Given the description of an element on the screen output the (x, y) to click on. 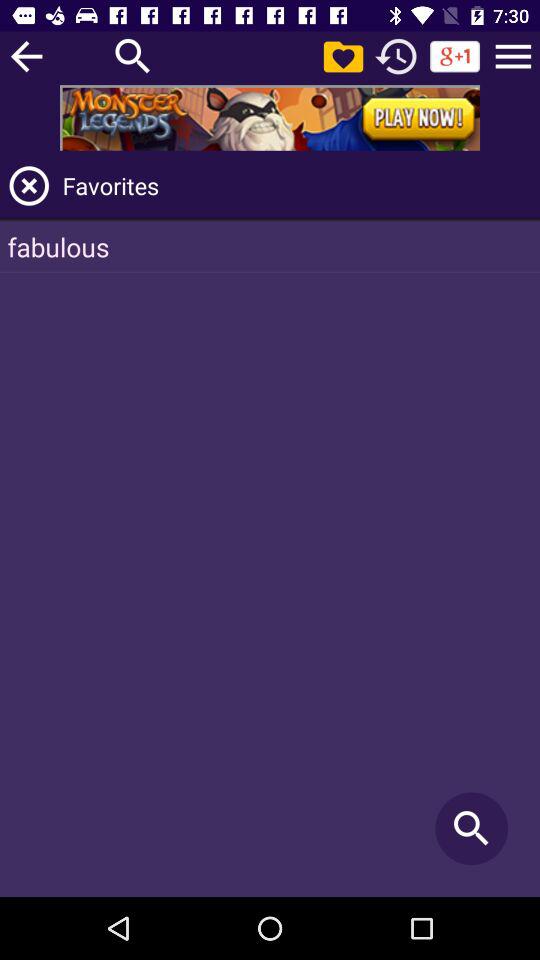
close the page (29, 185)
